Given the description of an element on the screen output the (x, y) to click on. 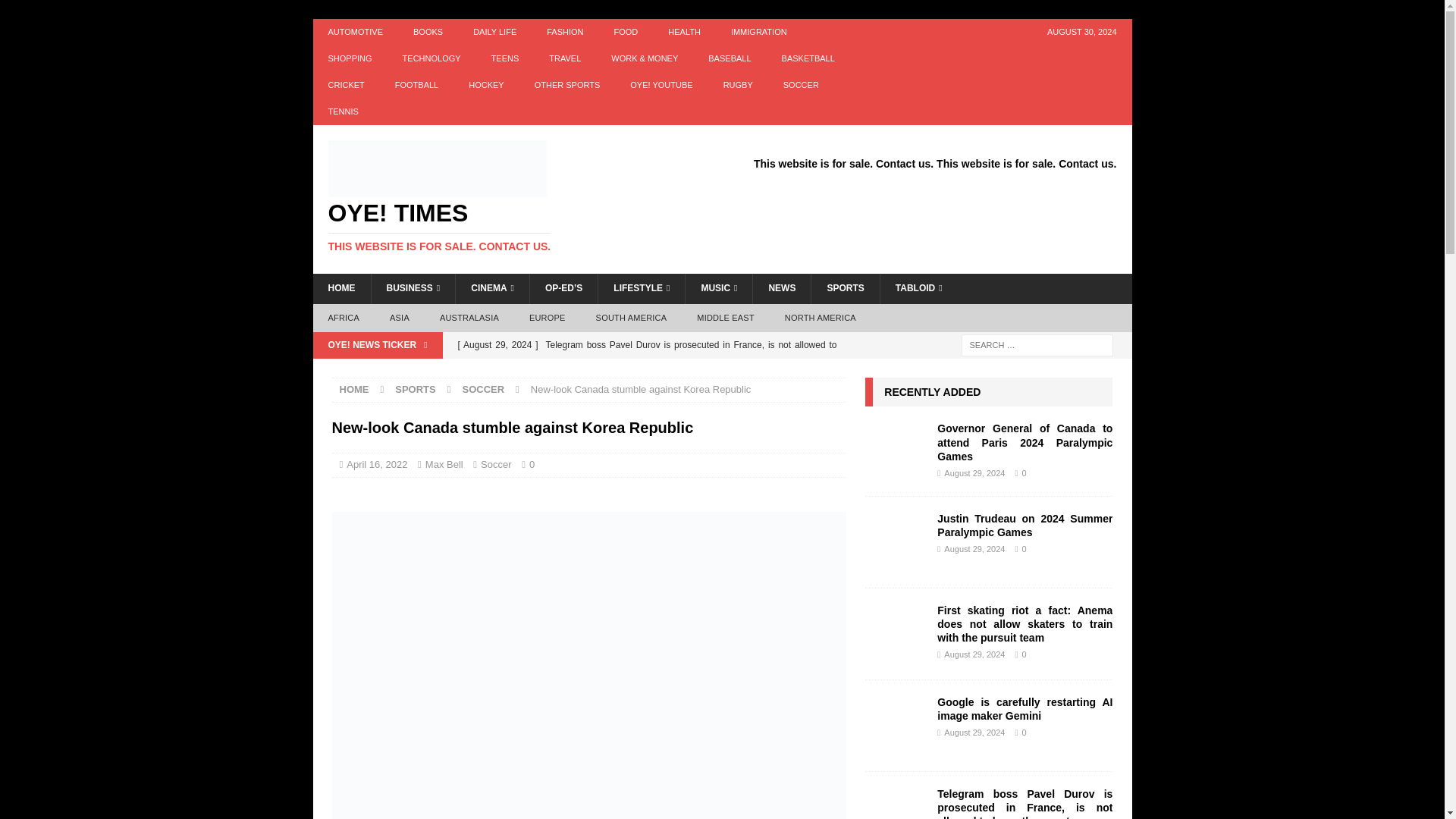
SOCCER (801, 85)
FOOTBALL (416, 85)
TEENS (505, 58)
OYE! YOUTUBE (660, 85)
OTHER SPORTS (567, 85)
BUSINESS (411, 288)
TRAVEL (564, 58)
FASHION (564, 31)
